Given the description of an element on the screen output the (x, y) to click on. 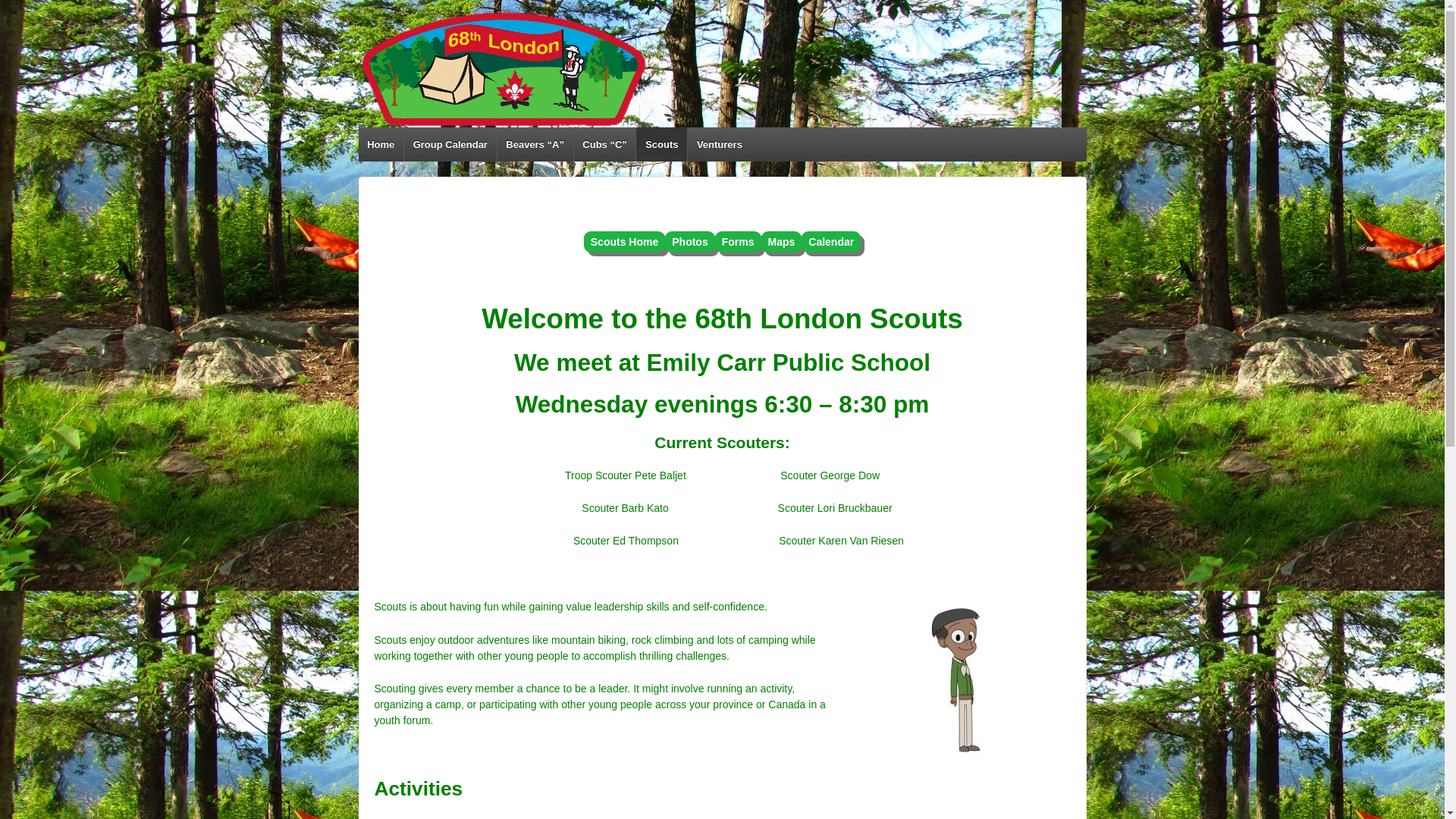
Photos Element type: text (689, 241)
Scouts Home Element type: text (624, 241)
Scouts Element type: text (661, 144)
Venturers Element type: text (718, 144)
Forms Element type: text (738, 241)
Group Calendar Element type: text (449, 144)
Calendar Element type: text (830, 241)
Home Element type: text (380, 144)
Maps Element type: text (781, 241)
